Given the description of an element on the screen output the (x, y) to click on. 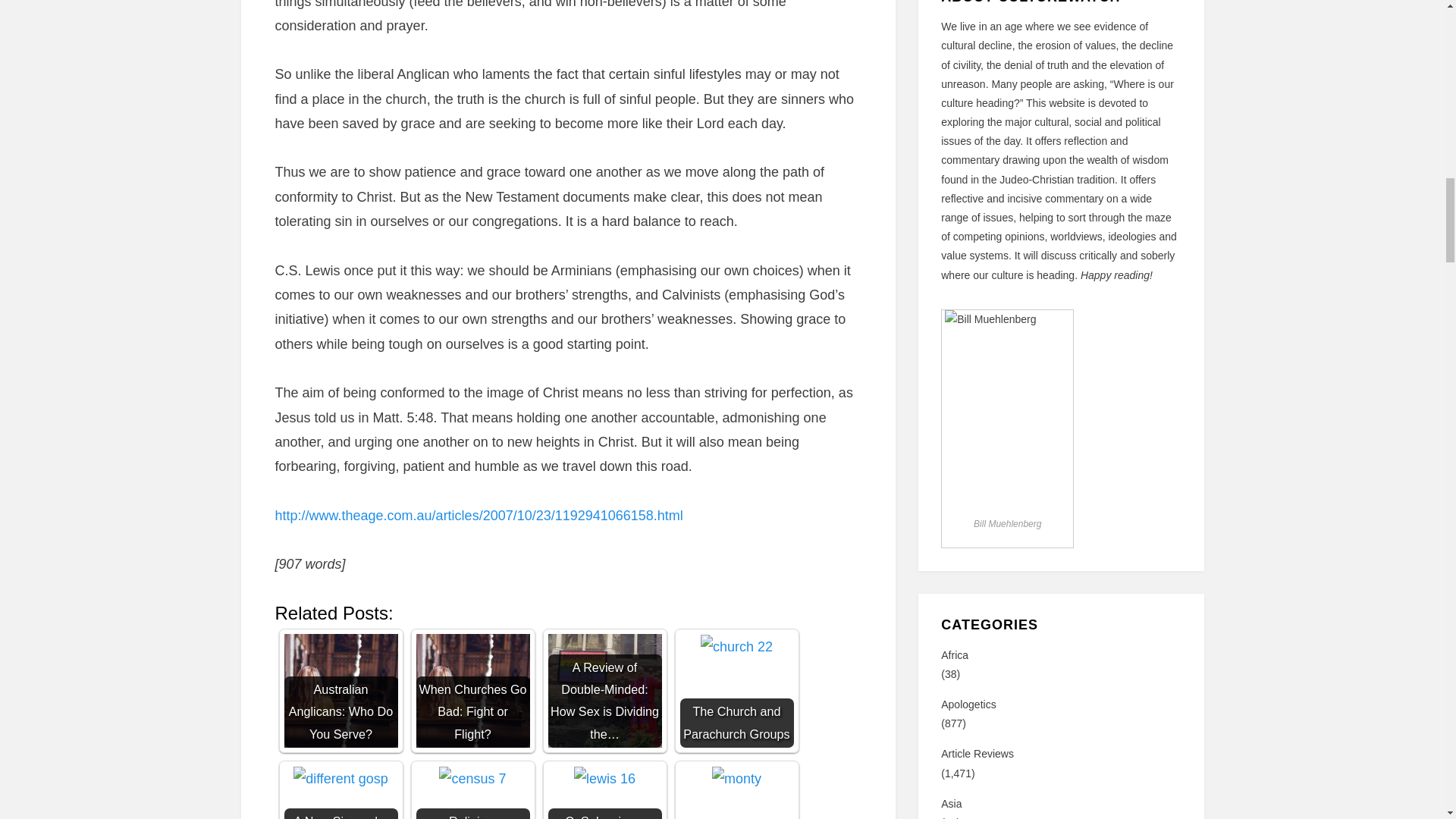
A New Sin, and a New Salvation Requirement? (341, 778)
Australian Anglicans: Who Do You Serve? (340, 690)
Woke Churches Erasing Women (736, 778)
Woke Churches Erasing Women (736, 792)
A New Sin, and a New Salvation Requirement? (340, 792)
When Churches Go Bad: Fight or Flight? (471, 690)
C. S. Lewis on Christian Apologetics (604, 792)
The Church and Parachurch Groups (736, 646)
The Church and Parachurch Groups (736, 690)
Australian Anglicans: Who Do You Serve? (340, 690)
C. S. Lewis on Christian Apologetics (603, 778)
Religion, Relationship and Remnants (471, 792)
Religion, Relationship and Remnants (472, 778)
When Churches Go Bad: Fight or Flight? (471, 690)
